Given the description of an element on the screen output the (x, y) to click on. 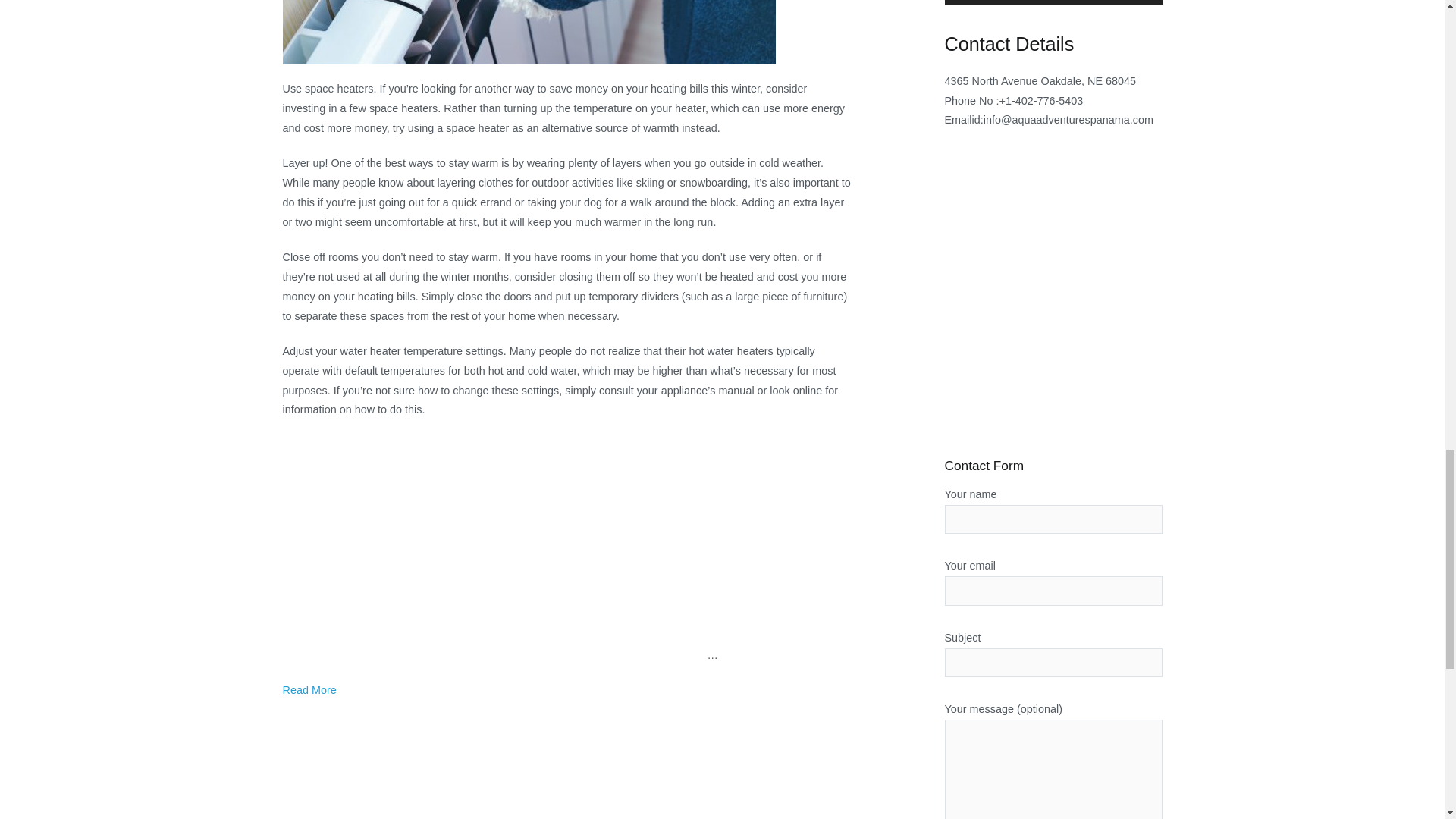
YouTube video player (494, 539)
Read More (309, 690)
